Given the description of an element on the screen output the (x, y) to click on. 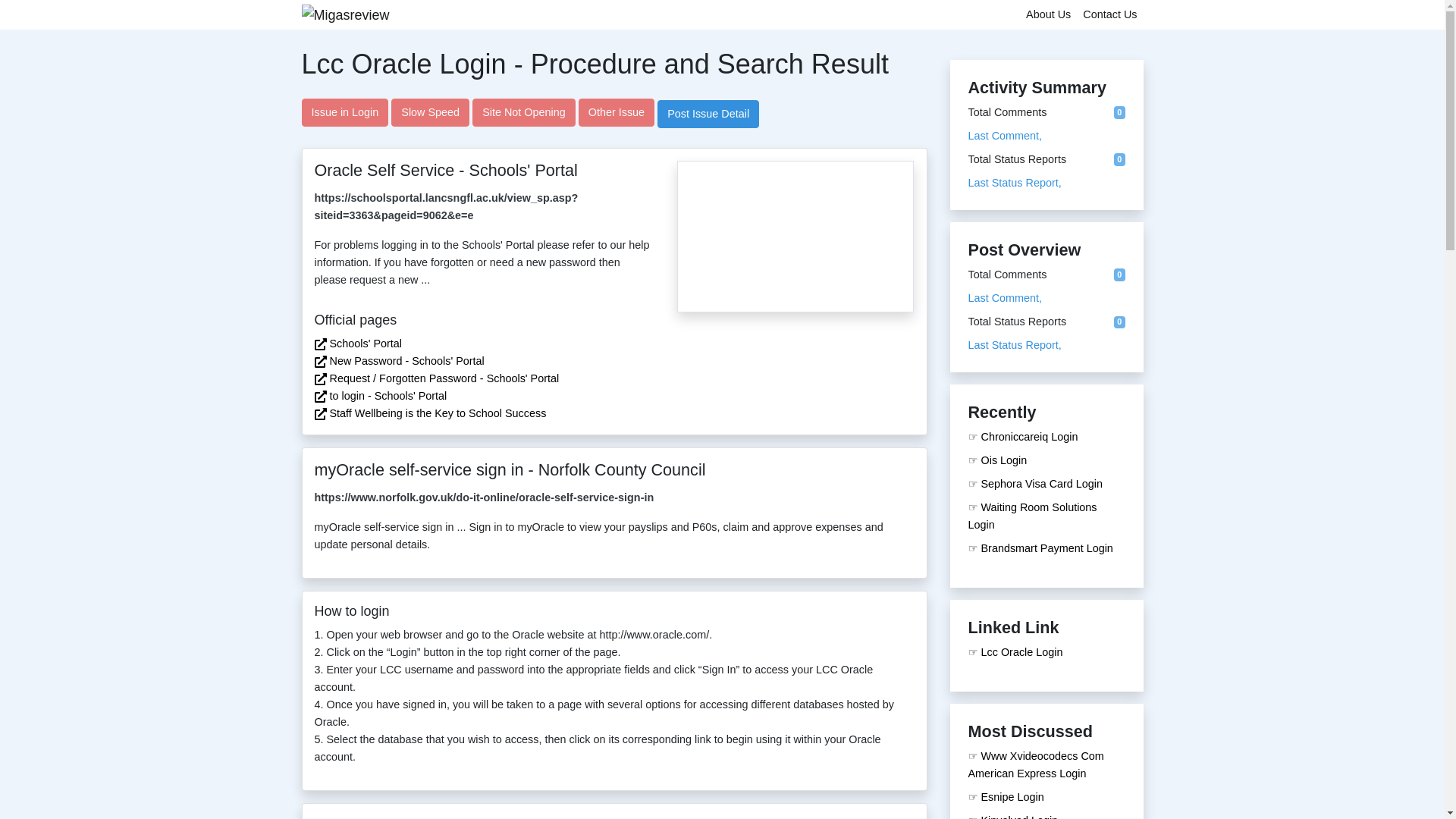
About Us (1048, 14)
Migasreview (345, 15)
Site Not Opening (523, 112)
Other Issue (615, 112)
Schools' Portal (365, 343)
to login - Schools' Portal (387, 395)
Contact Us (1109, 14)
Staff Wellbeing is the Key to School Success (437, 413)
Slow Speed (429, 112)
Oracle Self Service - Schools' Portal (795, 278)
